Given the description of an element on the screen output the (x, y) to click on. 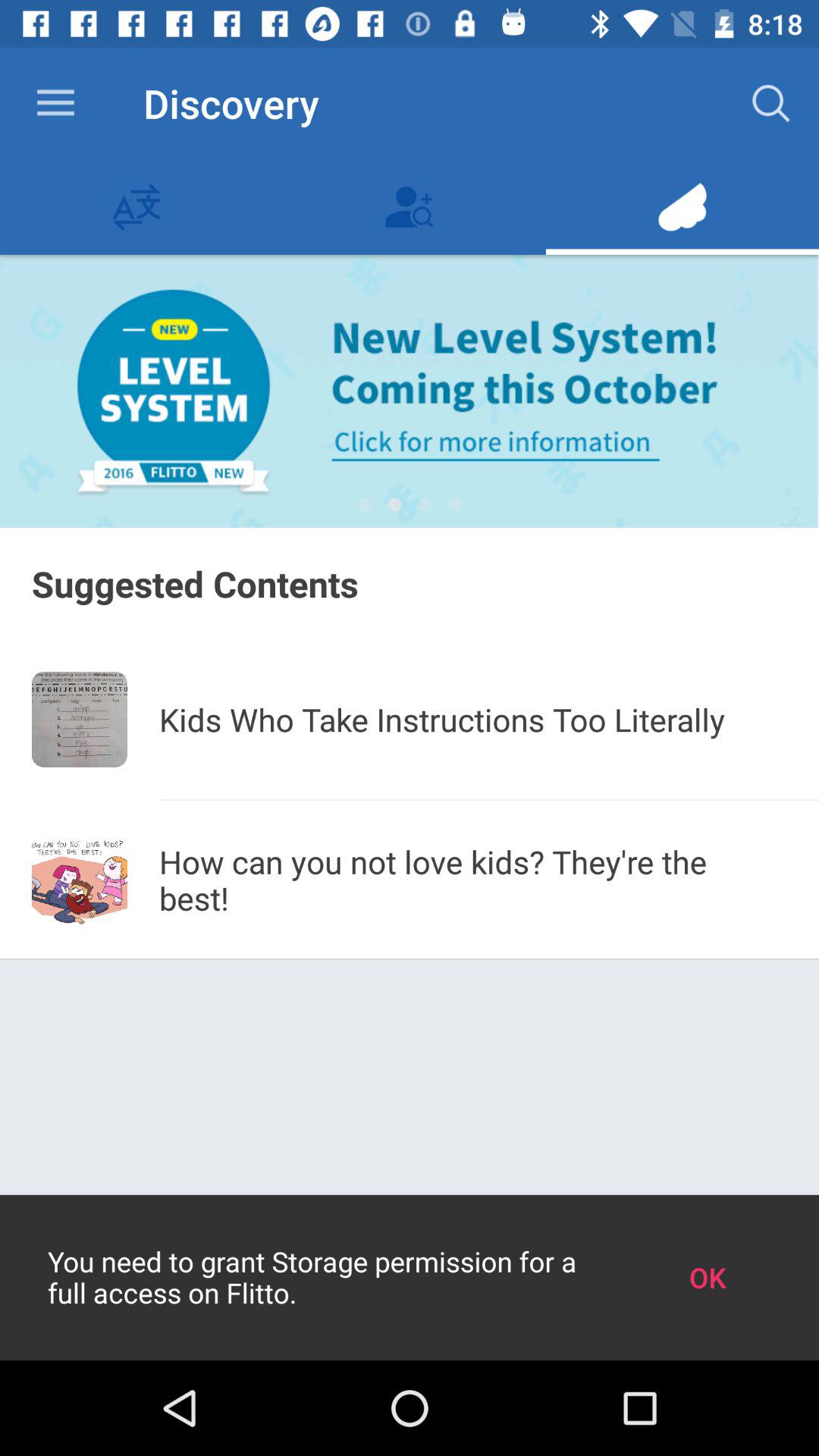
turn off the app to the left of how can you item (79, 880)
